Given the description of an element on the screen output the (x, y) to click on. 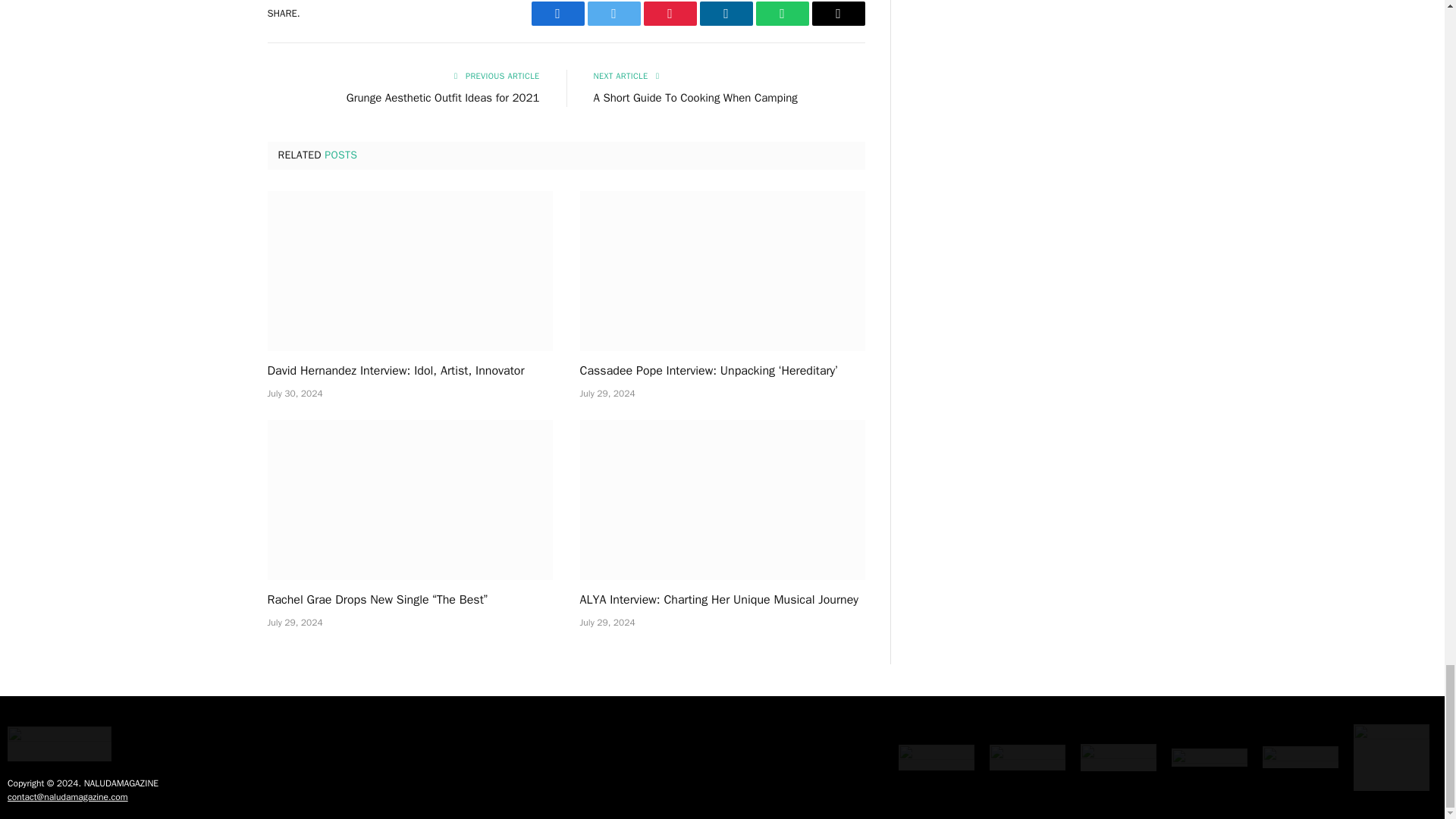
Share on Pinterest (669, 13)
Facebook (557, 13)
Pinterest (669, 13)
Twitter (613, 13)
Share on Facebook (557, 13)
Share on LinkedIn (725, 13)
